Given the description of an element on the screen output the (x, y) to click on. 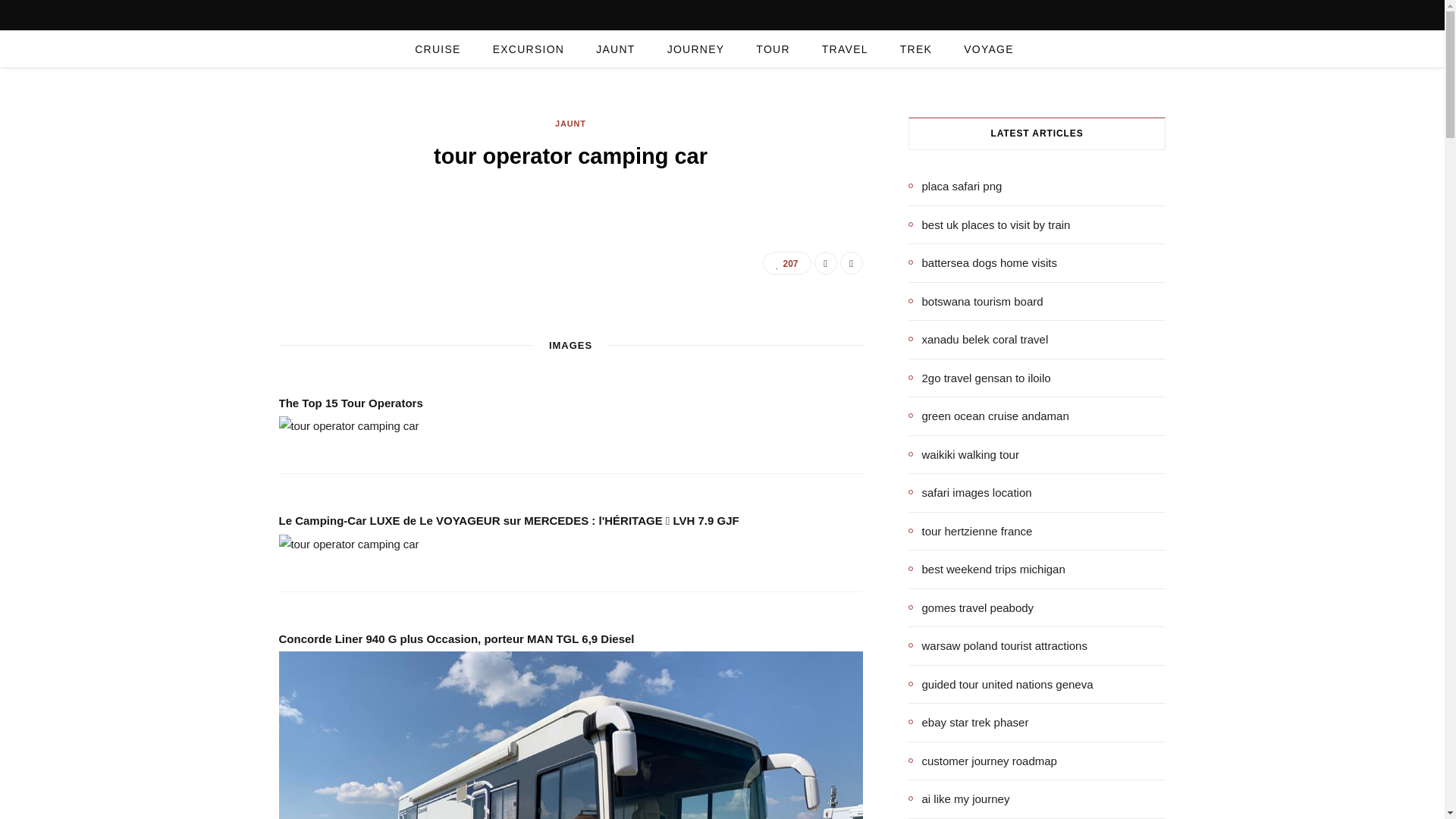
botswana tourism board (975, 301)
JOURNEY (695, 48)
customer journey roadmap (982, 760)
ai like my journey (959, 799)
best weekend trips michigan (986, 569)
TREK (915, 48)
TOUR (772, 48)
ebay star trek phaser (968, 722)
JAUNT (614, 48)
tour operator camping car (349, 425)
207 (786, 262)
best uk places to visit by train (989, 225)
TRAVEL (844, 48)
waikiki walking tour (963, 454)
gomes travel peabody (970, 607)
